Given the description of an element on the screen output the (x, y) to click on. 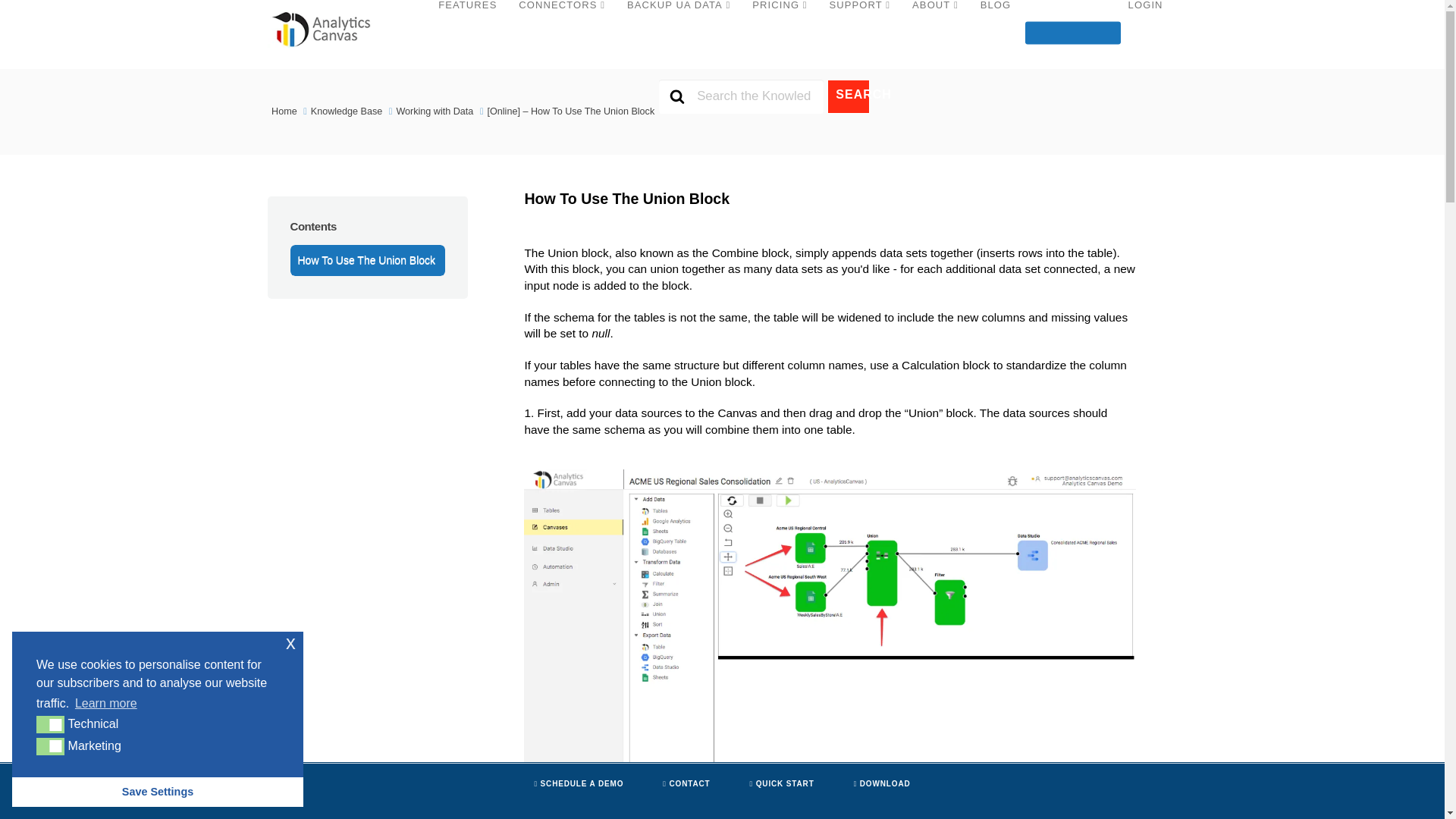
FEATURES (470, 33)
Knowledge Base (348, 111)
SUPPORT (862, 33)
ABOUT (938, 33)
Home (284, 111)
PRICING (782, 33)
CONNECTORS (565, 33)
FREE TRIAL (1072, 33)
View all posts in Working with Data (436, 111)
BACKUP UA DATA (682, 33)
